Given the description of an element on the screen output the (x, y) to click on. 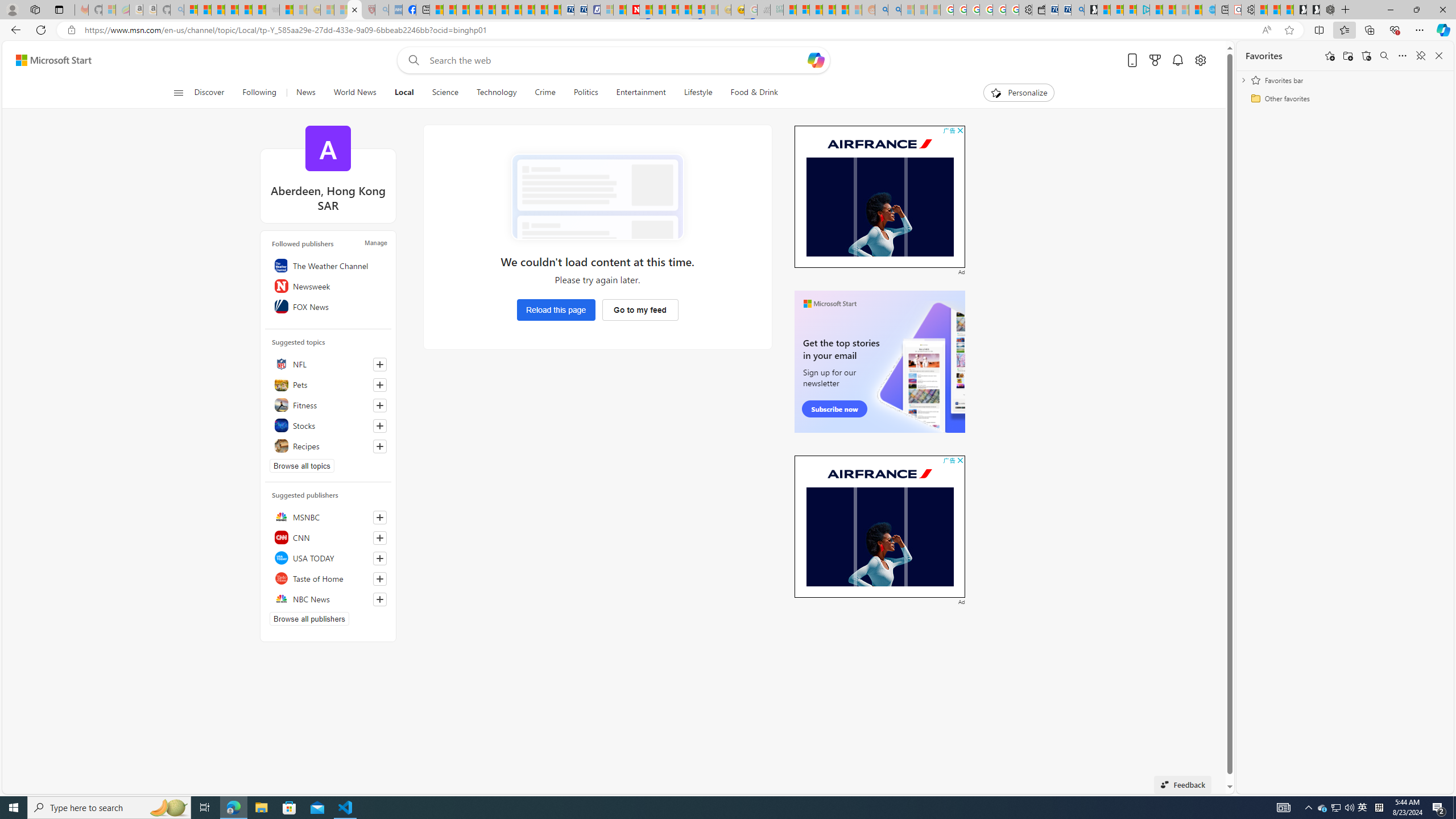
Cheap Car Rentals - Save70.com (1063, 9)
Error (597, 196)
The Weather Channel (327, 265)
